Given the description of an element on the screen output the (x, y) to click on. 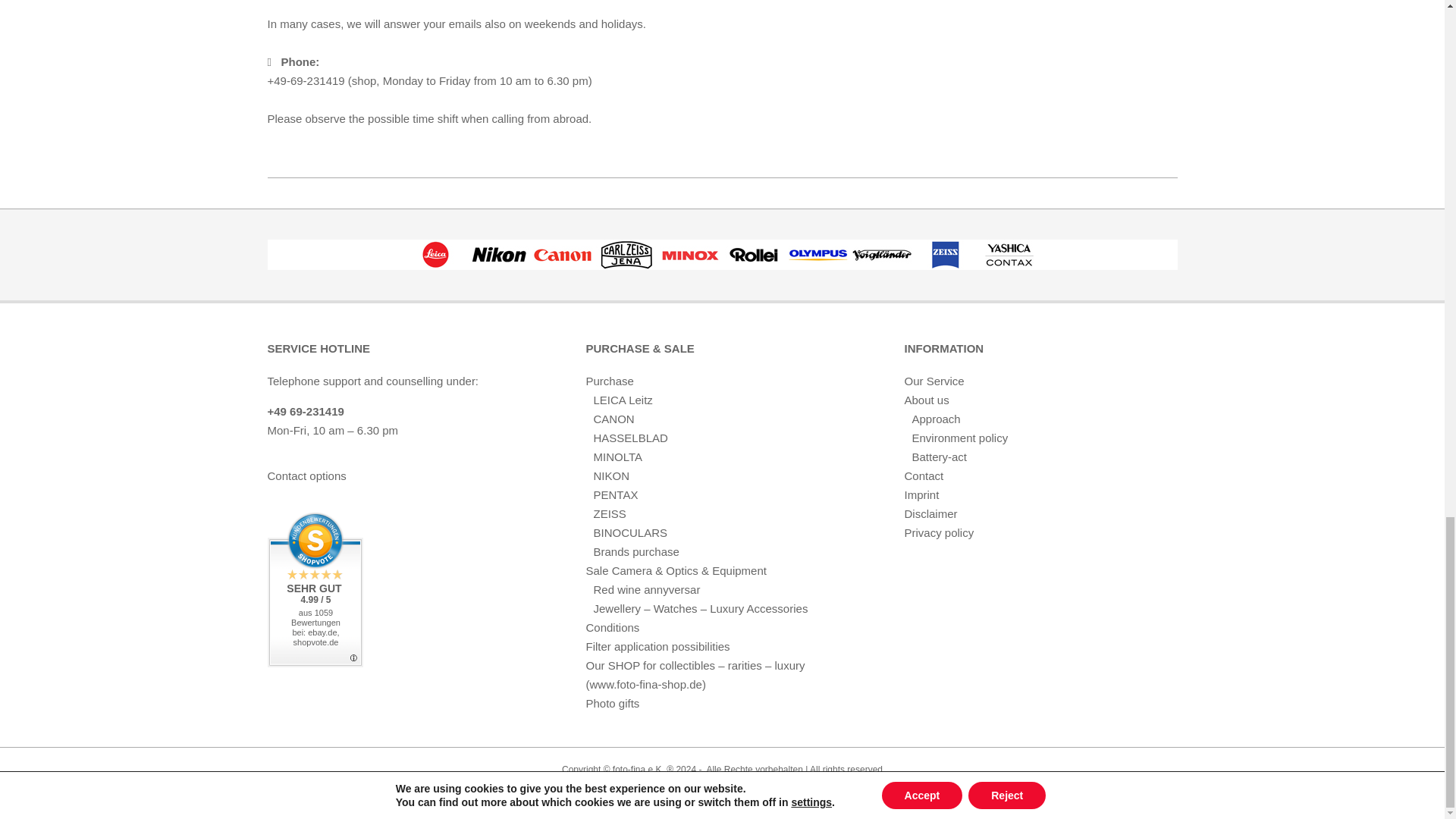
OLYMPUS (817, 254)
MINOX (689, 254)
Contact options (306, 475)
Nikon (498, 254)
ZEISS (609, 513)
LEICA Leitz (622, 399)
BINOCULARS (629, 532)
PENTAX (614, 494)
CANON (562, 254)
LEICA (434, 254)
HASSELBLAD (629, 437)
Brands purchase (635, 551)
YASHICA CONTAX (1008, 254)
CANON (612, 418)
CARL ZEISS JENA (625, 254)
